Given the description of an element on the screen output the (x, y) to click on. 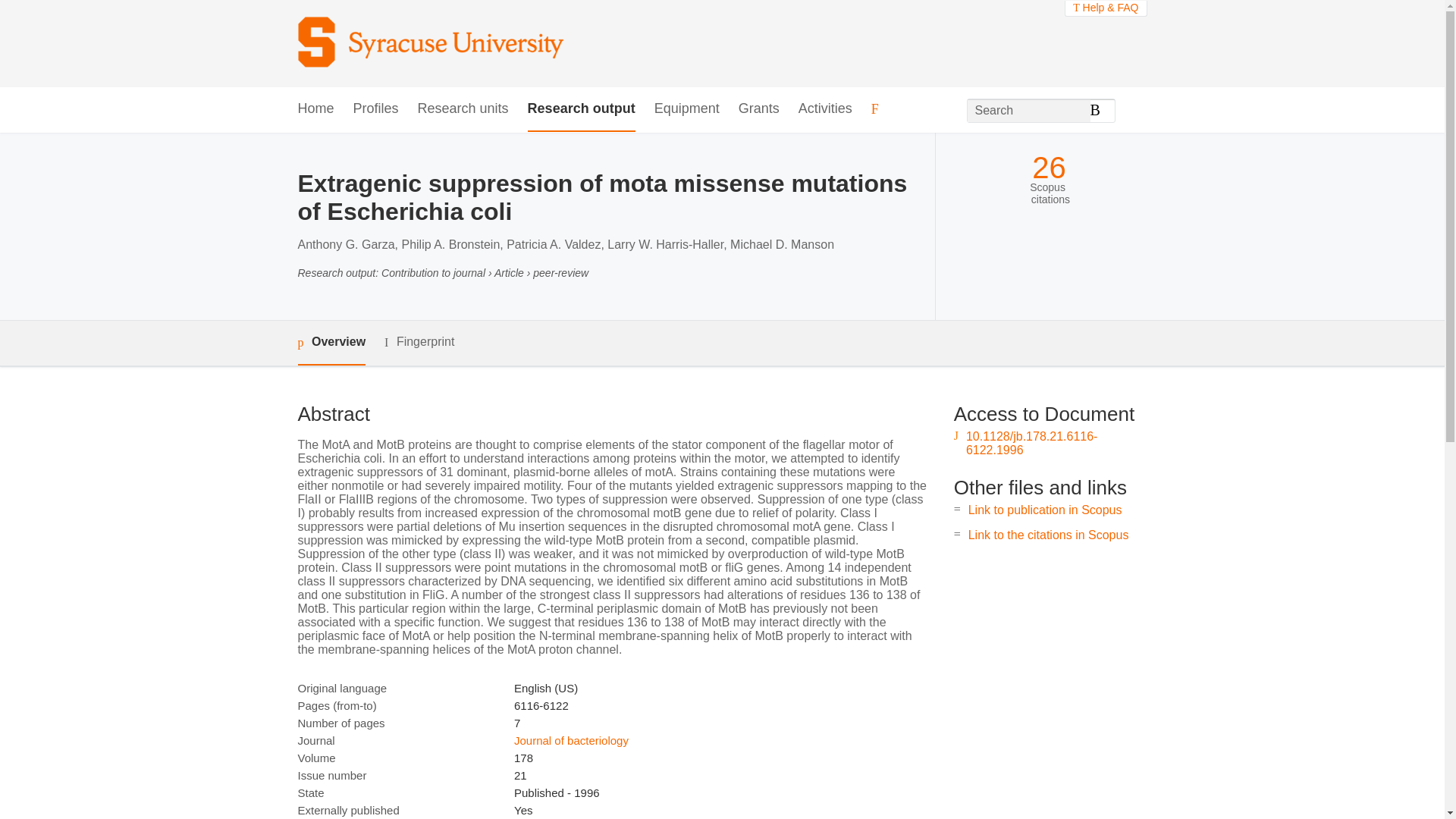
Equipment (686, 108)
Research units (462, 108)
Activities (824, 108)
Research output (580, 108)
Fingerprint (419, 342)
Link to the citations in Scopus (1048, 534)
Profiles (375, 108)
Journal of bacteriology (570, 739)
Overview (331, 343)
Grants (758, 108)
Link to publication in Scopus (1045, 509)
26 (1048, 167)
